Given the description of an element on the screen output the (x, y) to click on. 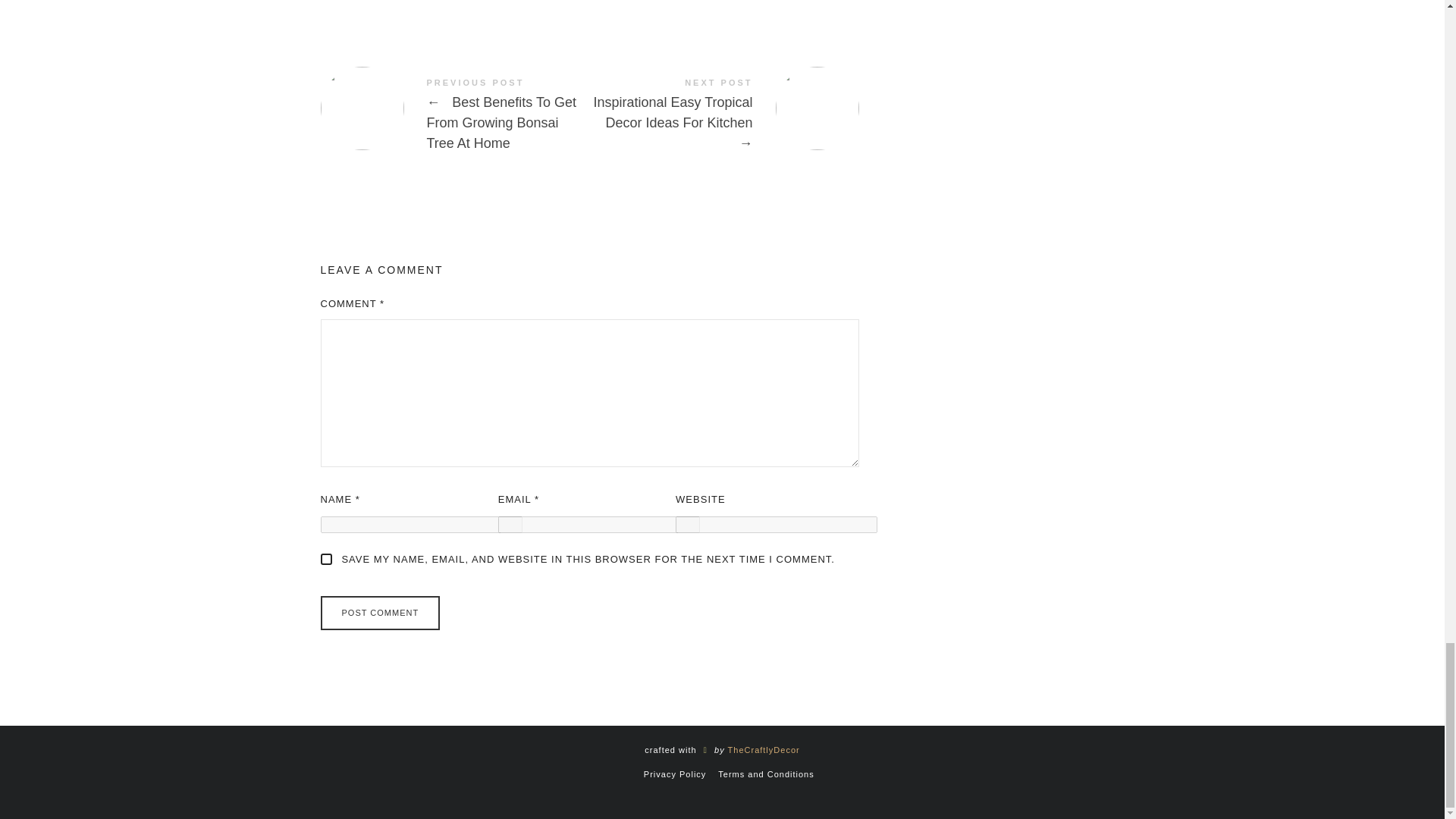
yes (325, 559)
Best Benefits To Get From Growing Bonsai Tree At Home (454, 116)
Post Comment (379, 612)
Post Comment (379, 612)
Inspirational Easy Tropical Decor Ideas For Kitchen (724, 116)
